Given the description of an element on the screen output the (x, y) to click on. 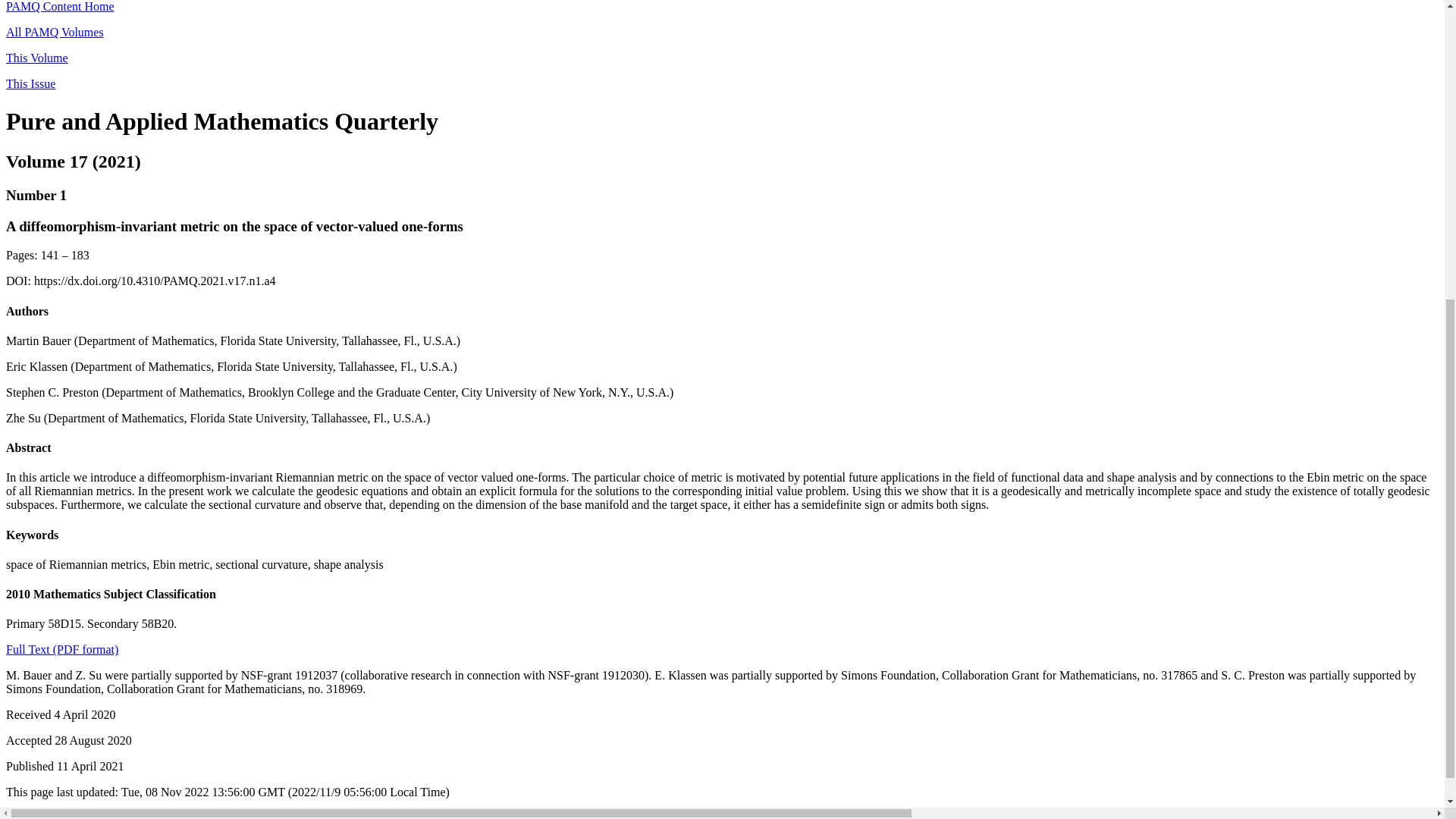
PAMQ Content Home (60, 6)
All PAMQ Volumes (54, 31)
This Volume (36, 57)
This Issue (30, 83)
